Given the description of an element on the screen output the (x, y) to click on. 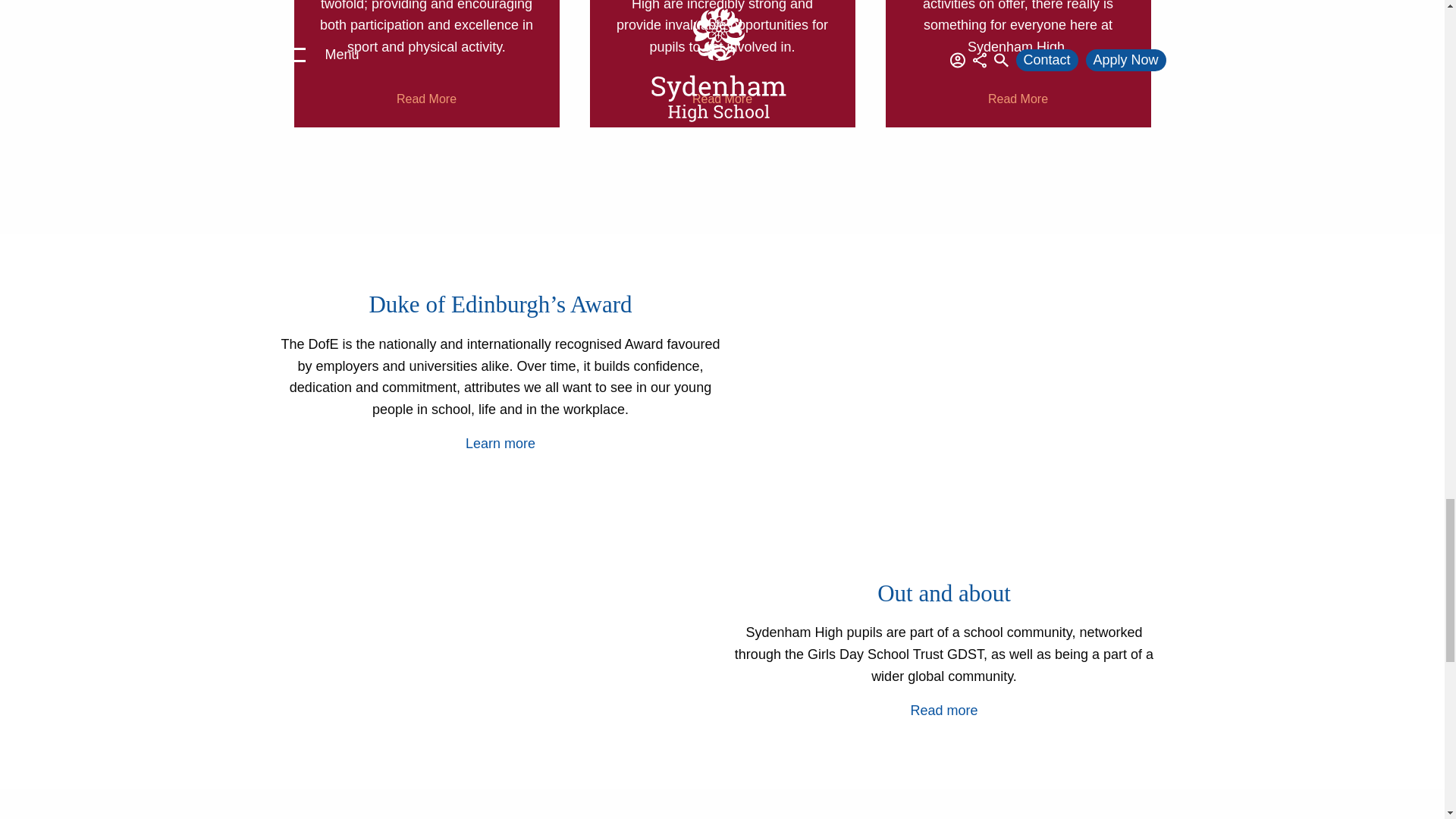
Learn more Duke of Edinburgh's Award (500, 443)
Read more Out and about (943, 710)
